Given the description of an element on the screen output the (x, y) to click on. 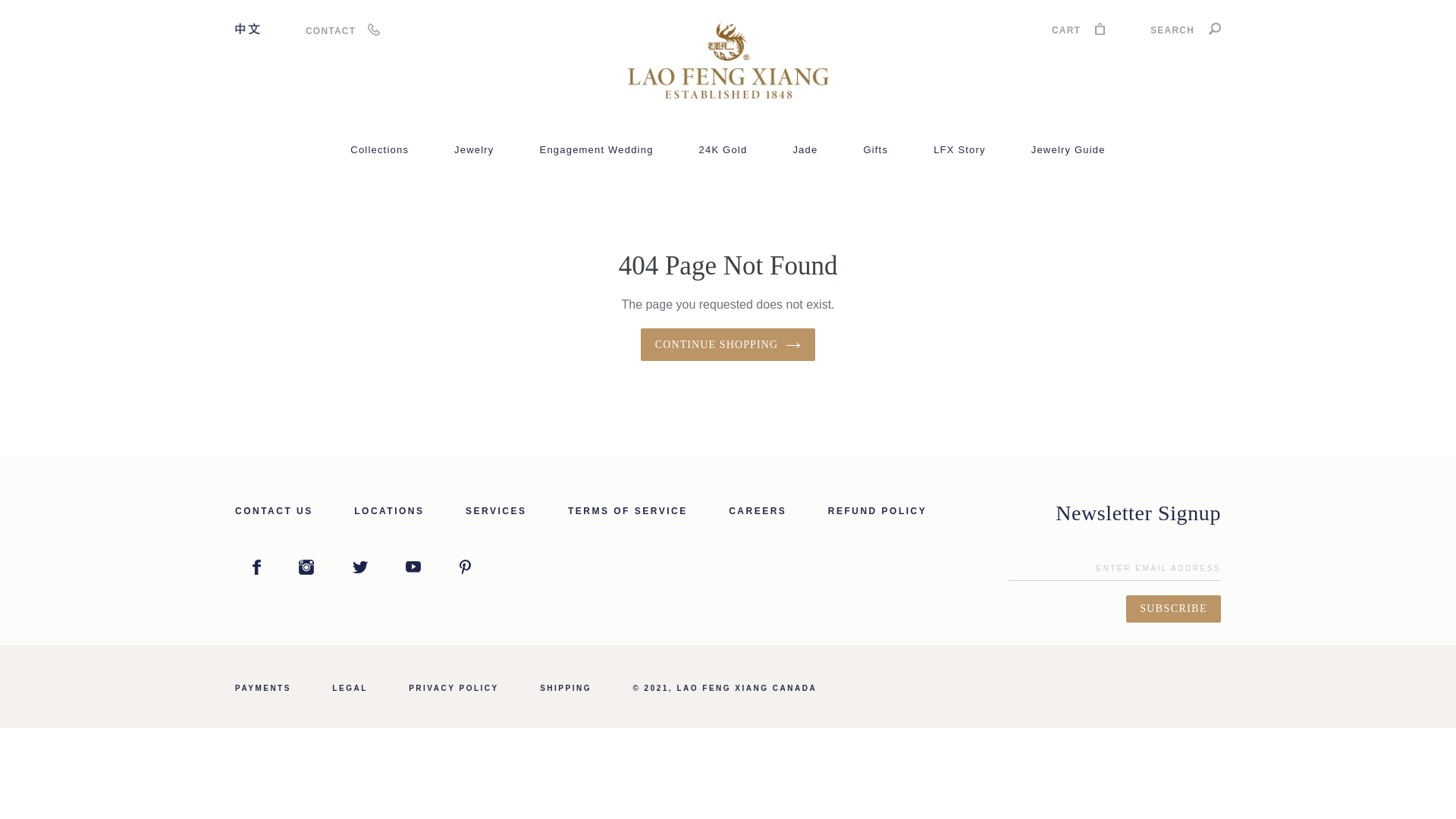
Collections (379, 149)
CART (1078, 32)
Jewelry (473, 149)
SEARCH (1185, 32)
CONTACT (330, 30)
